Given the description of an element on the screen output the (x, y) to click on. 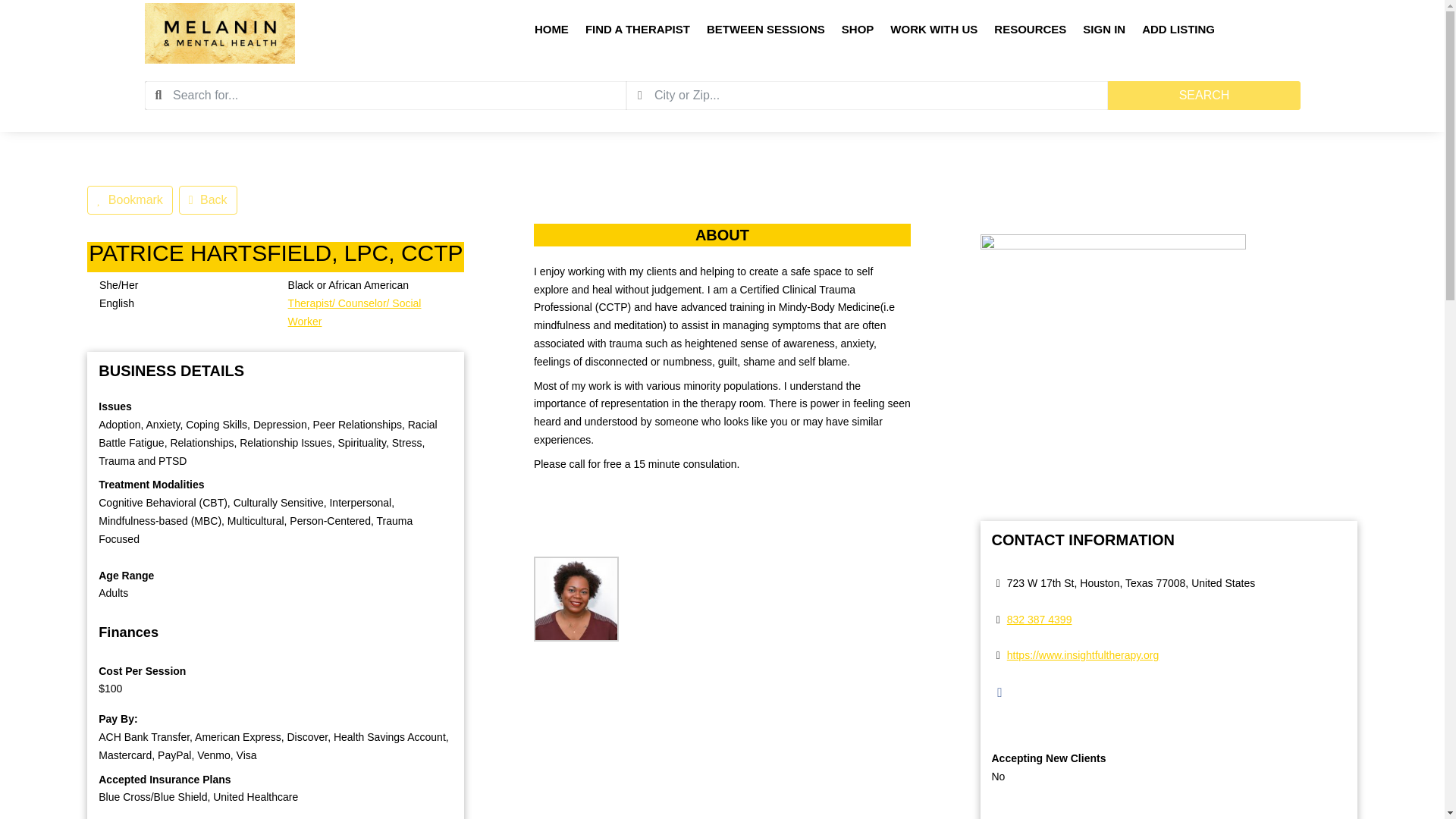
832 387 4399 (1039, 619)
SIGN IN (1104, 32)
ADD LISTING (1177, 32)
Facebook (1000, 691)
HOME (551, 32)
BETWEEN SESSIONS (765, 32)
FIND A THERAPIST (637, 32)
Bookmark (130, 199)
Back (208, 199)
Logo-gold-and-black-1024x412-2 (219, 33)
SEARCH (1203, 95)
SHOP (858, 32)
RESOURCES (1029, 32)
WORK WITH US (932, 32)
